Given the description of an element on the screen output the (x, y) to click on. 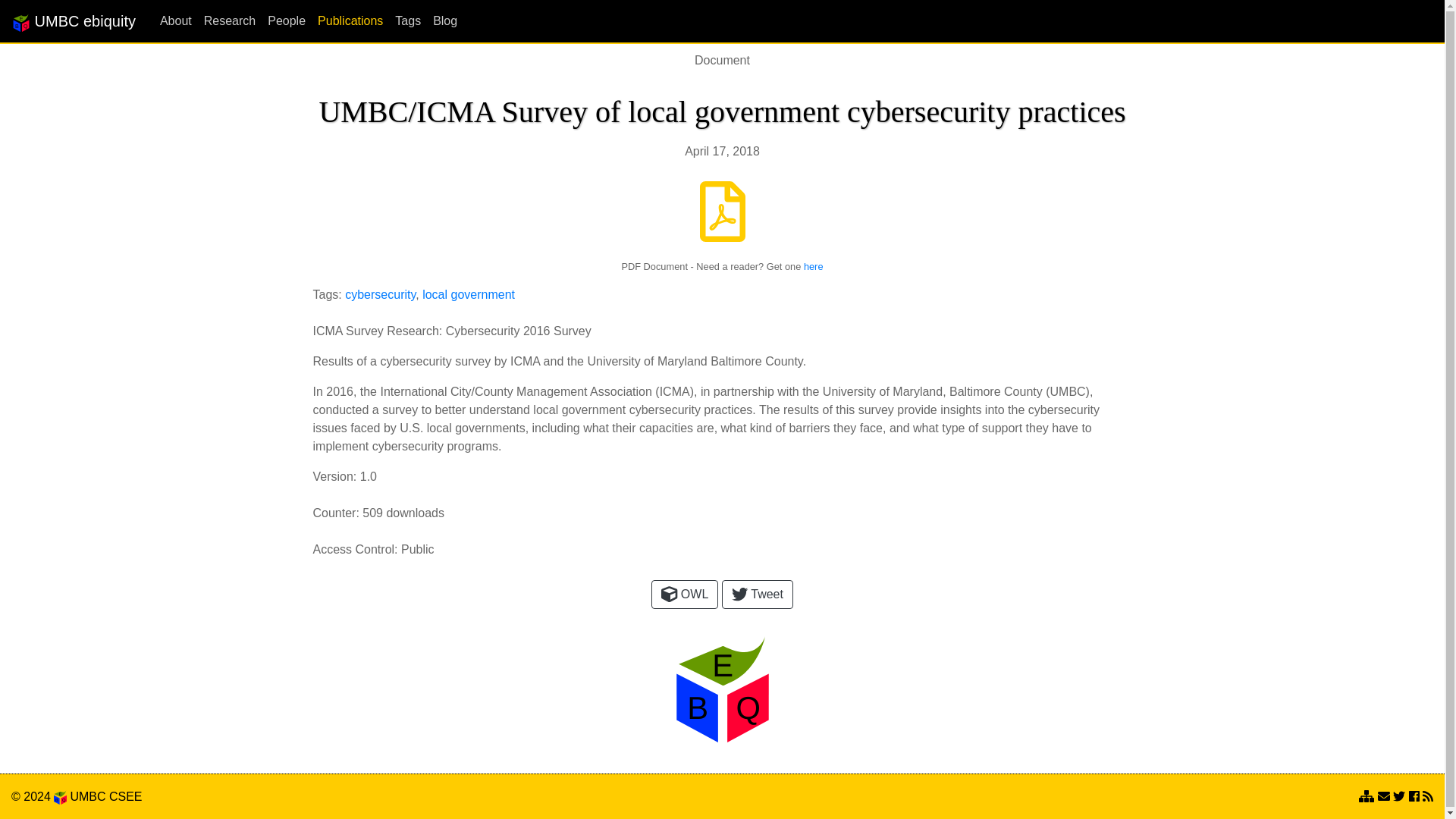
Tags (401, 20)
UMBC ebiquity (73, 20)
here (813, 266)
OWL (683, 594)
local government (468, 294)
Research (224, 20)
cybersecurity (379, 294)
Blog (438, 20)
Tweet (757, 594)
Publications (343, 20)
About (170, 20)
People (280, 20)
 UMBC ebiquity (73, 20)
